Given the description of an element on the screen output the (x, y) to click on. 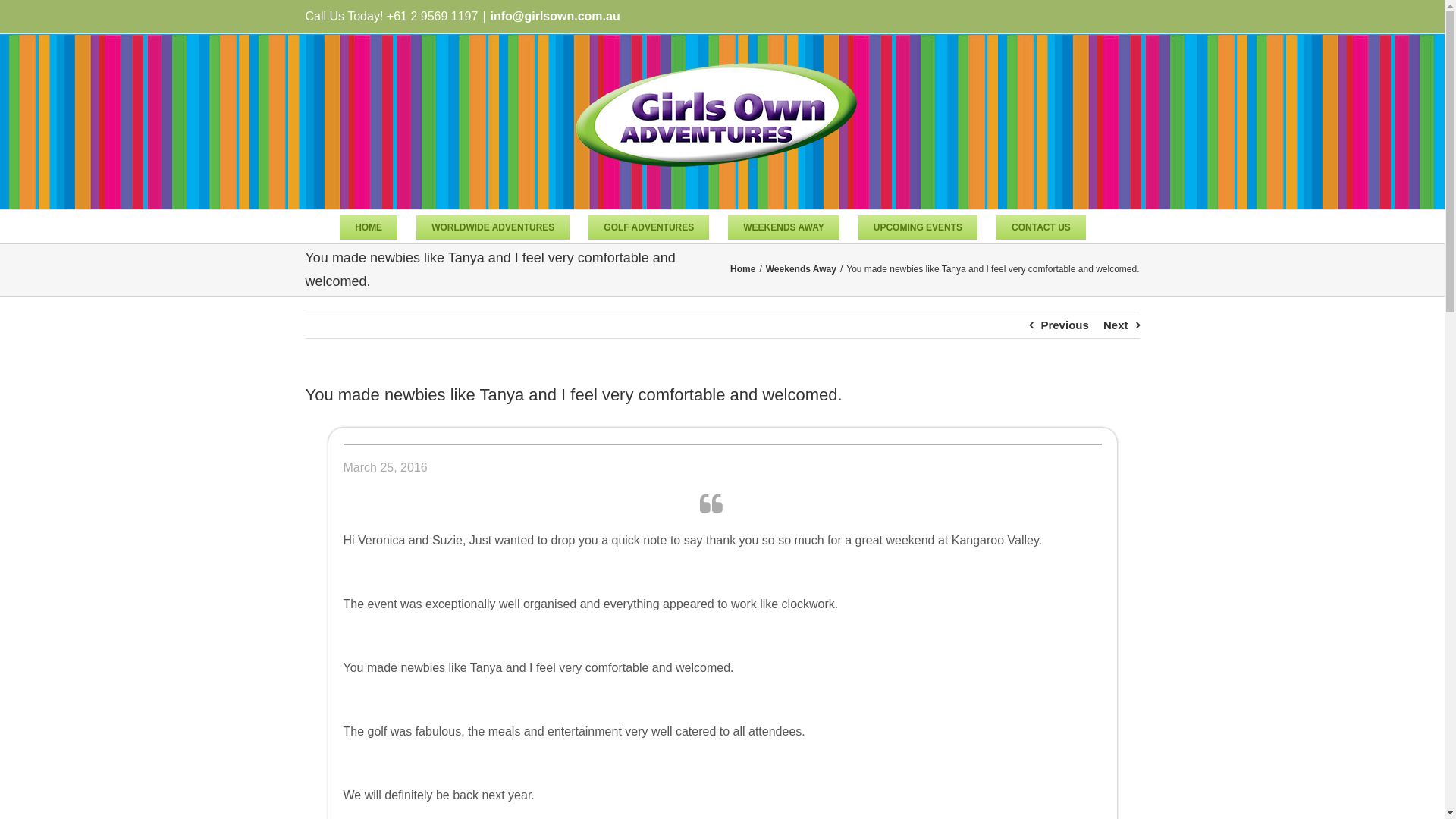
info@girlsown.com.au Element type: text (555, 15)
GOLF ADVENTURES Element type: text (648, 226)
Next Element type: text (1115, 325)
Previous Element type: text (1064, 325)
UPCOMING EVENTS Element type: text (917, 226)
WEEKENDS AWAY Element type: text (783, 226)
CONTACT US Element type: text (1040, 226)
HOME Element type: text (368, 226)
WORLDWIDE ADVENTURES Element type: text (492, 226)
Weekends Away Element type: text (800, 268)
Home Element type: text (742, 268)
